Given the description of an element on the screen output the (x, y) to click on. 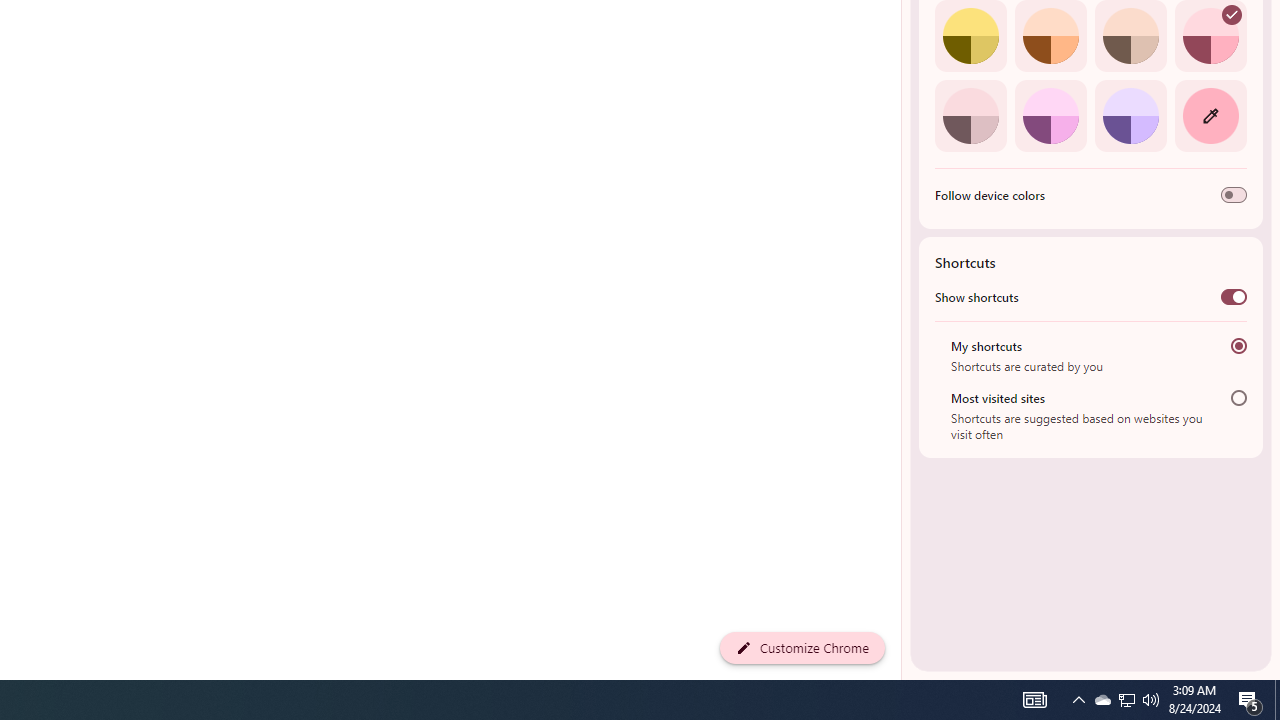
Violet (1130, 115)
